Given the description of an element on the screen output the (x, y) to click on. 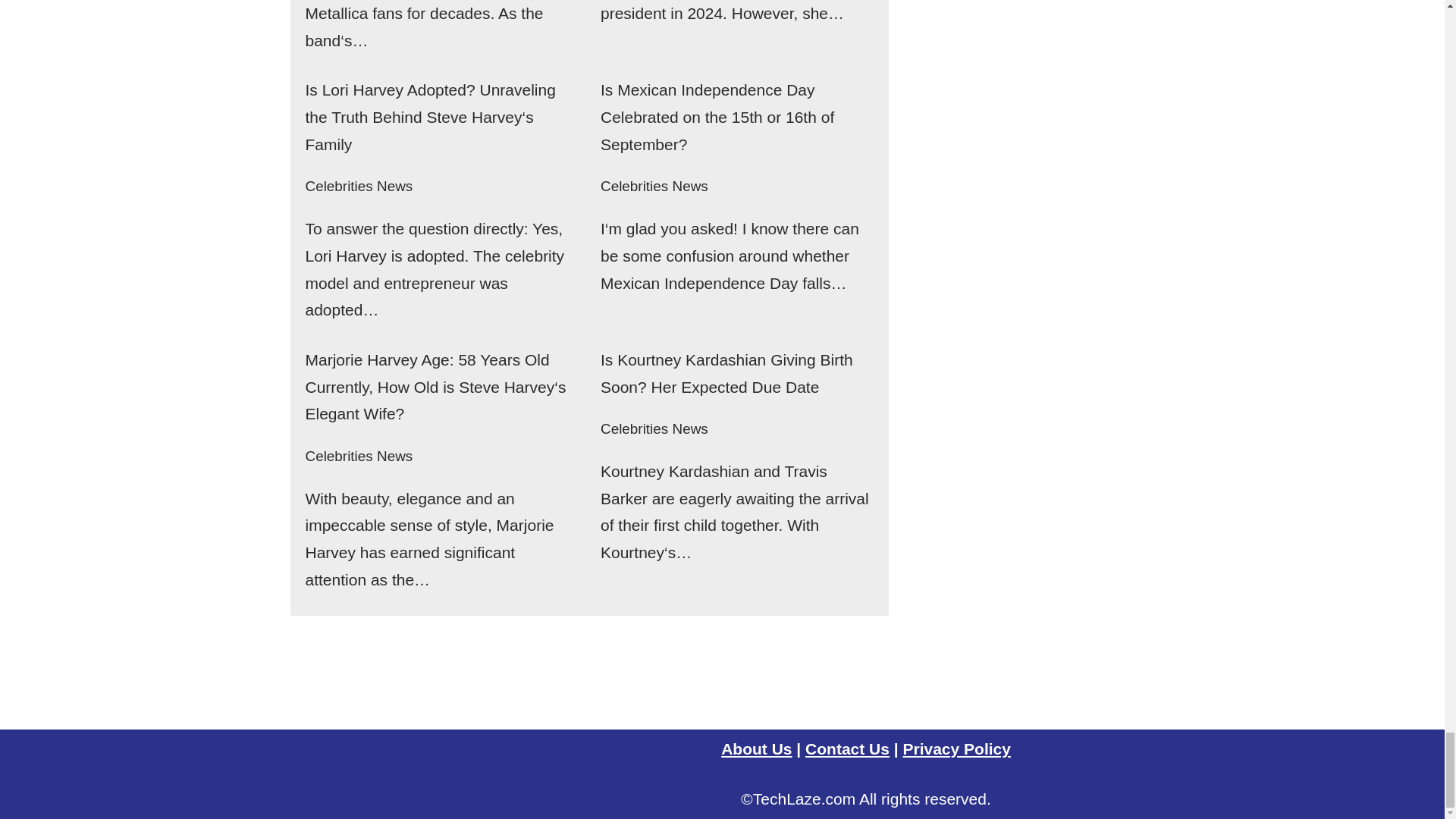
Celebrities News (653, 186)
Celebrities News (358, 186)
